Given the description of an element on the screen output the (x, y) to click on. 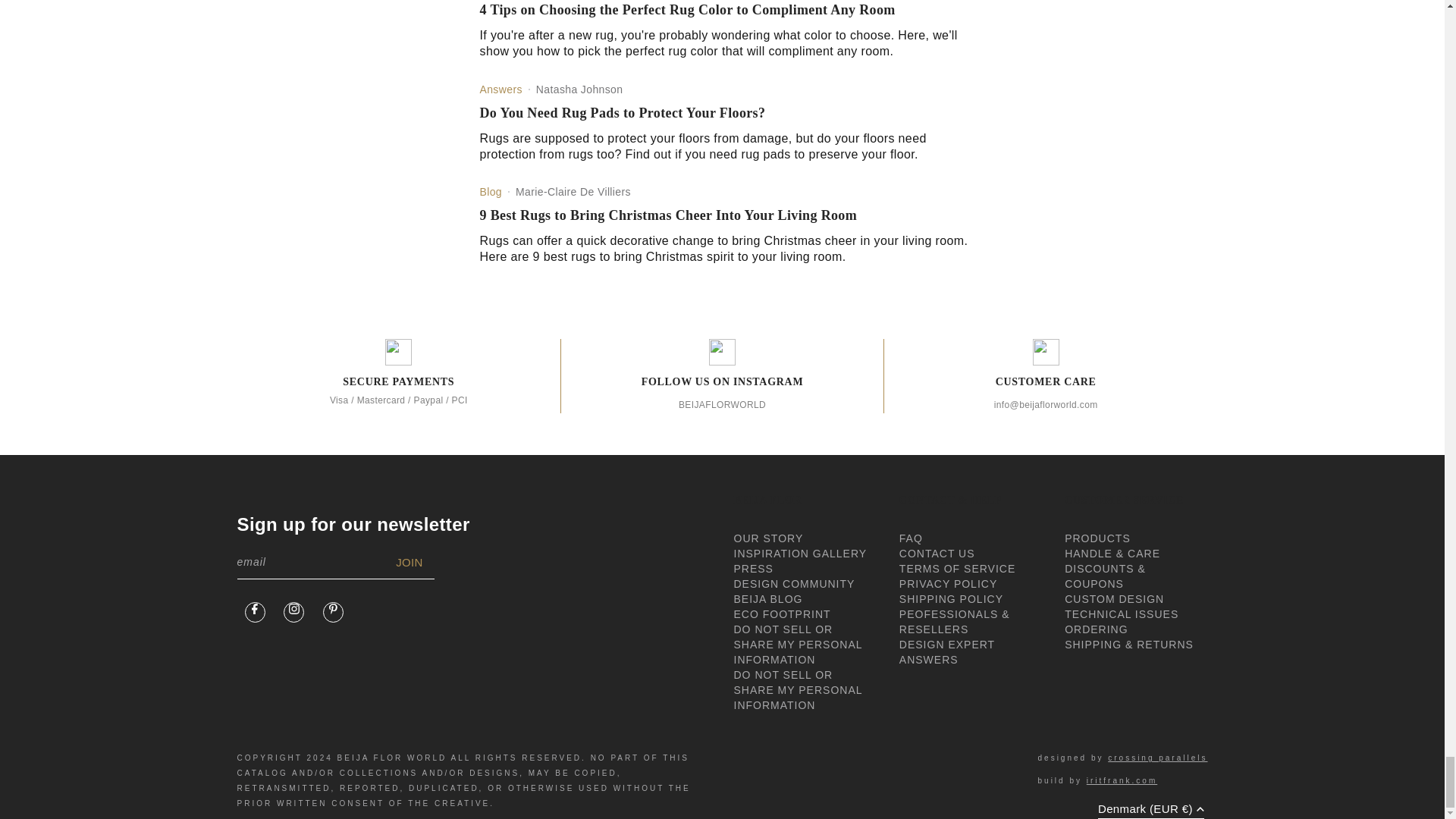
Join (409, 562)
